Given the description of an element on the screen output the (x, y) to click on. 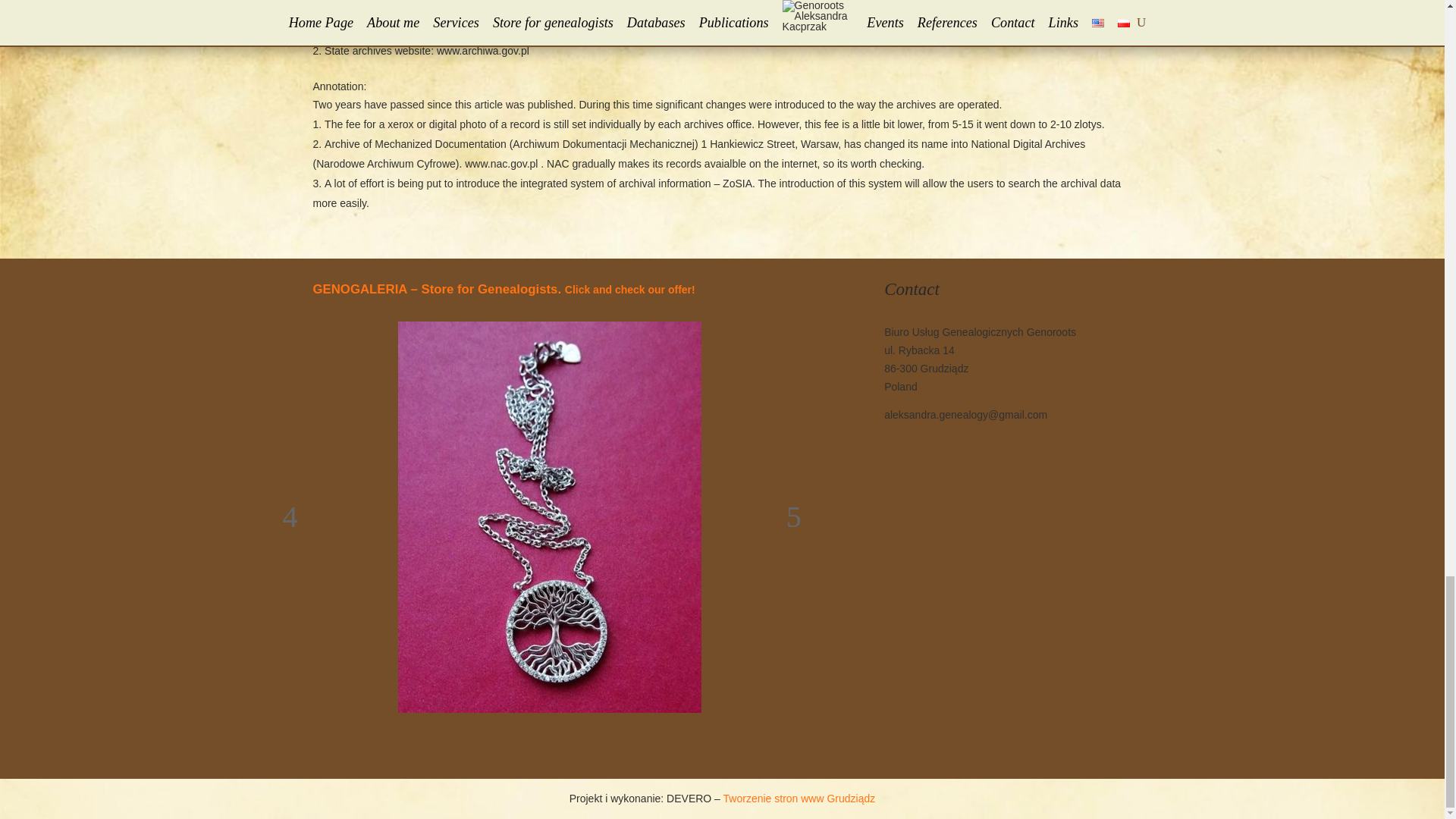
Click and check our offer! (629, 289)
